Given the description of an element on the screen output the (x, y) to click on. 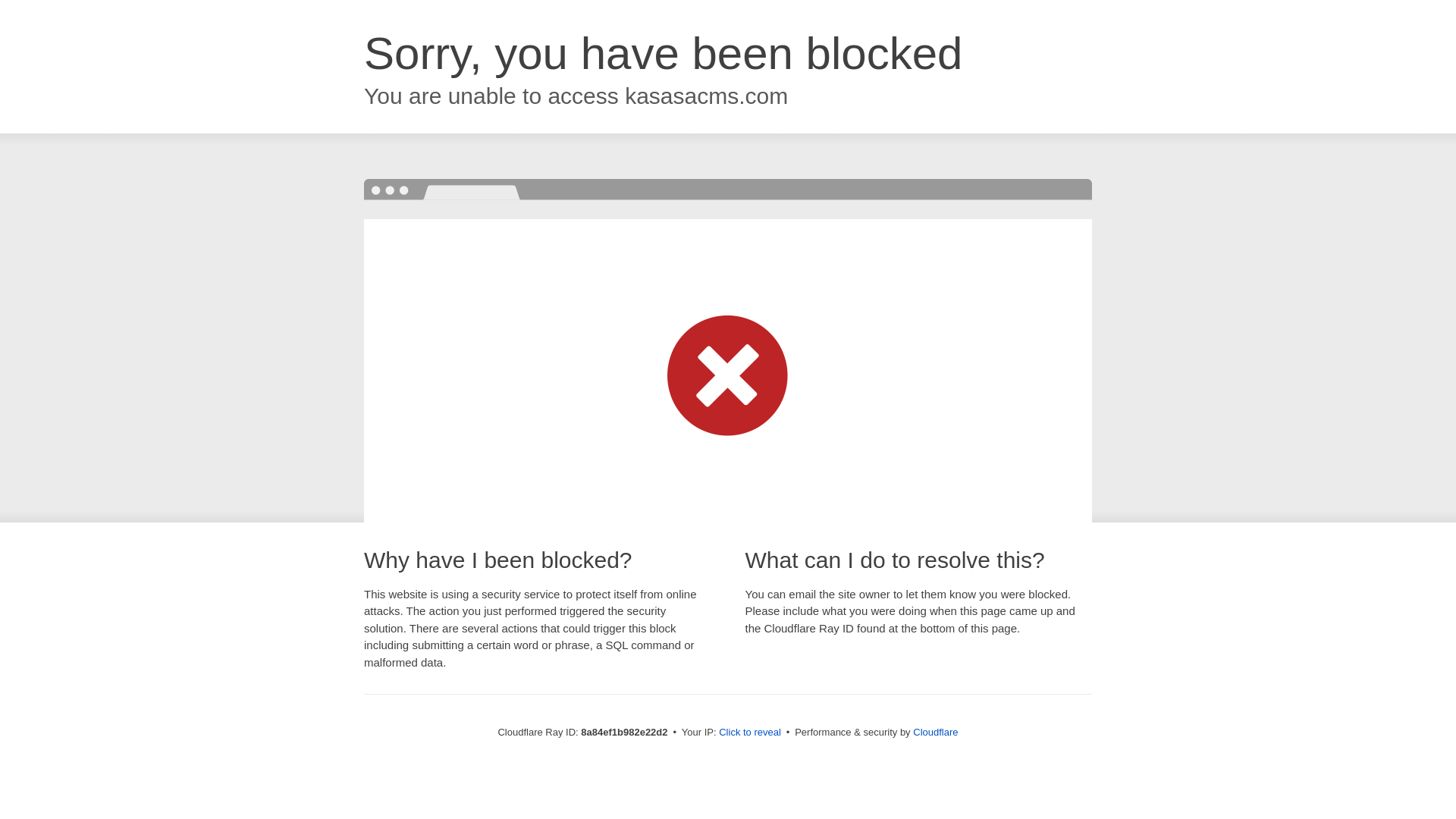
Click to reveal (749, 732)
Cloudflare (935, 731)
